Given the description of an element on the screen output the (x, y) to click on. 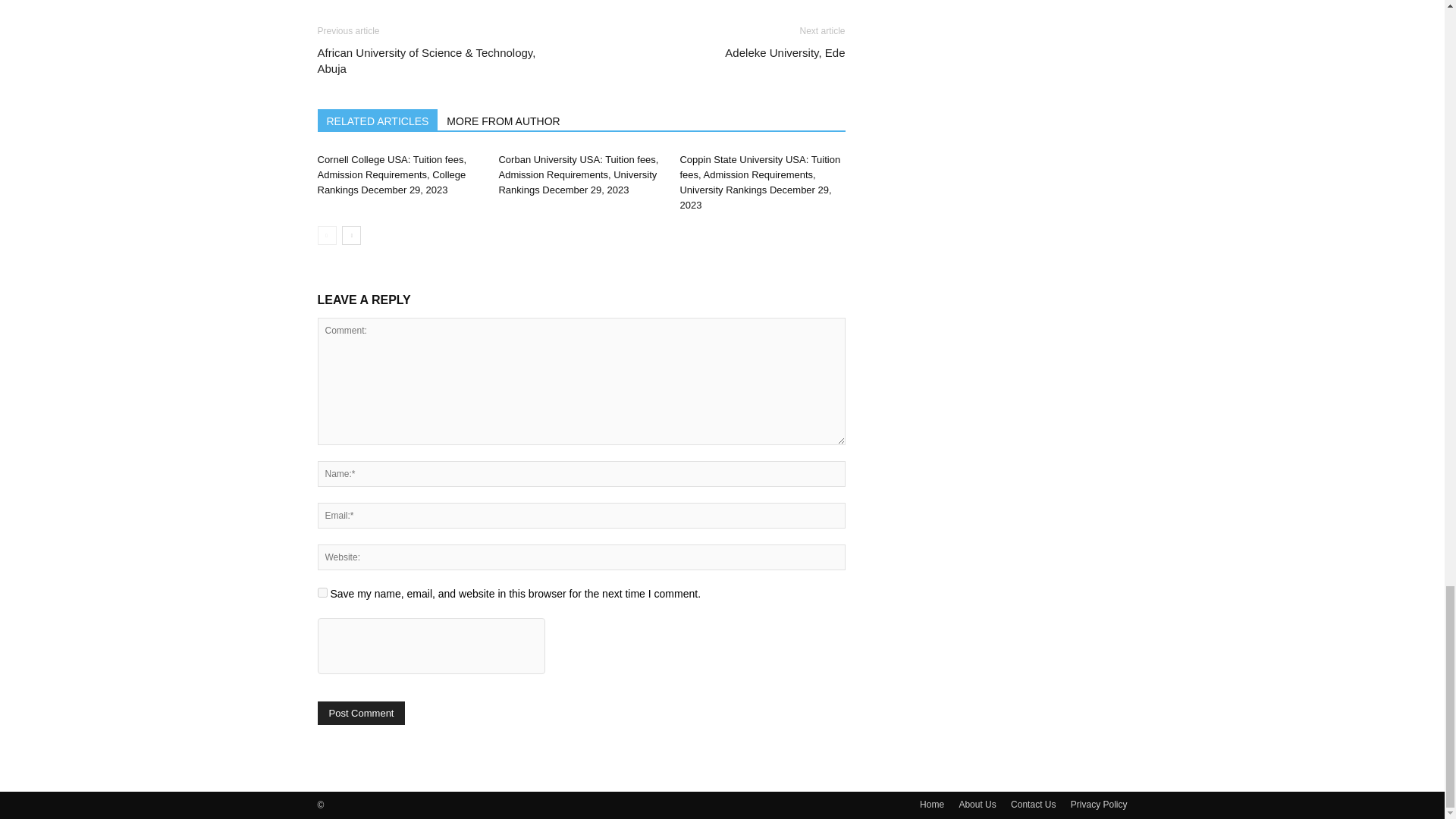
Post Comment (360, 712)
yes (321, 592)
